Given the description of an element on the screen output the (x, y) to click on. 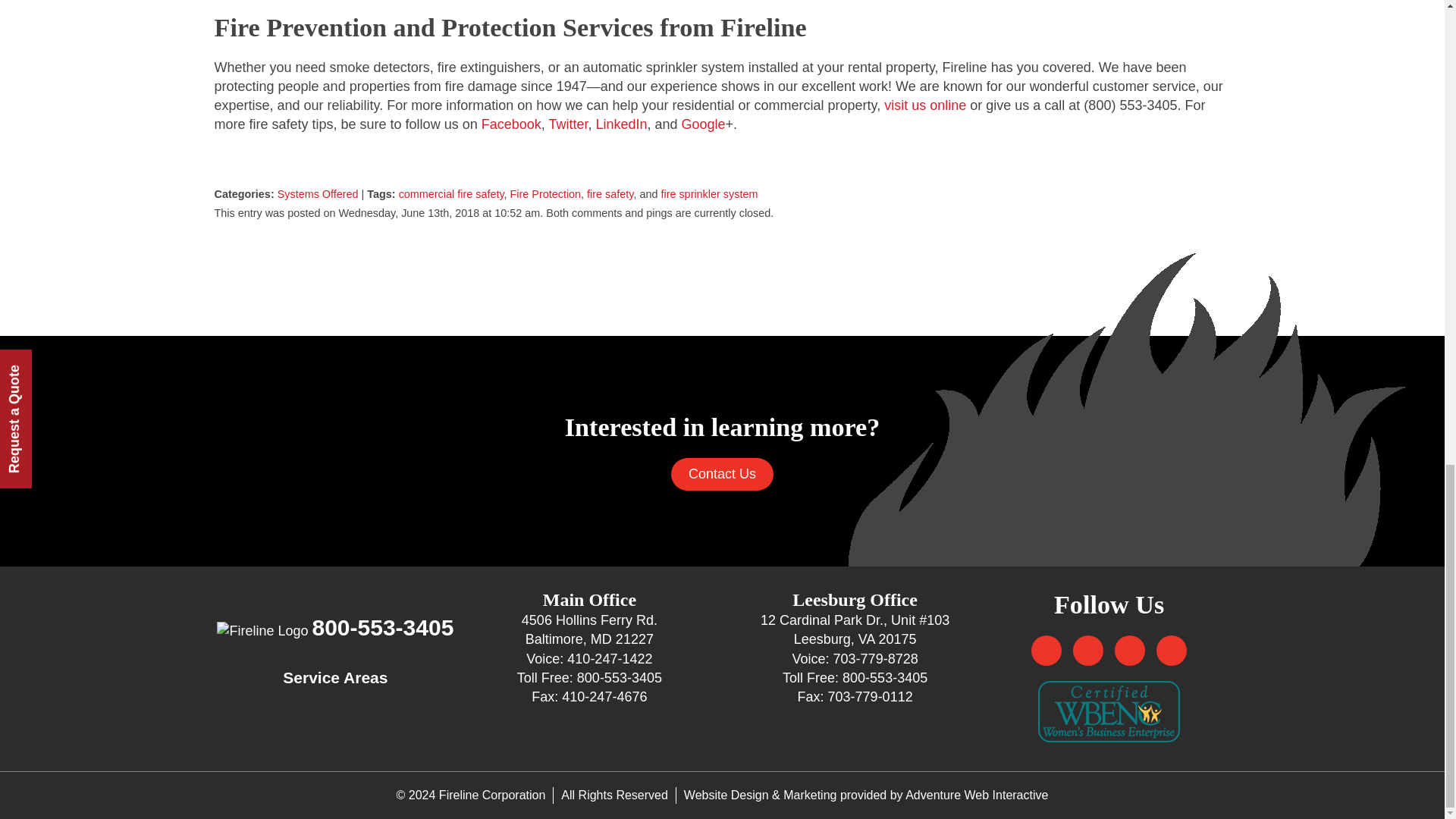
Fireline (261, 630)
